Given the description of an element on the screen output the (x, y) to click on. 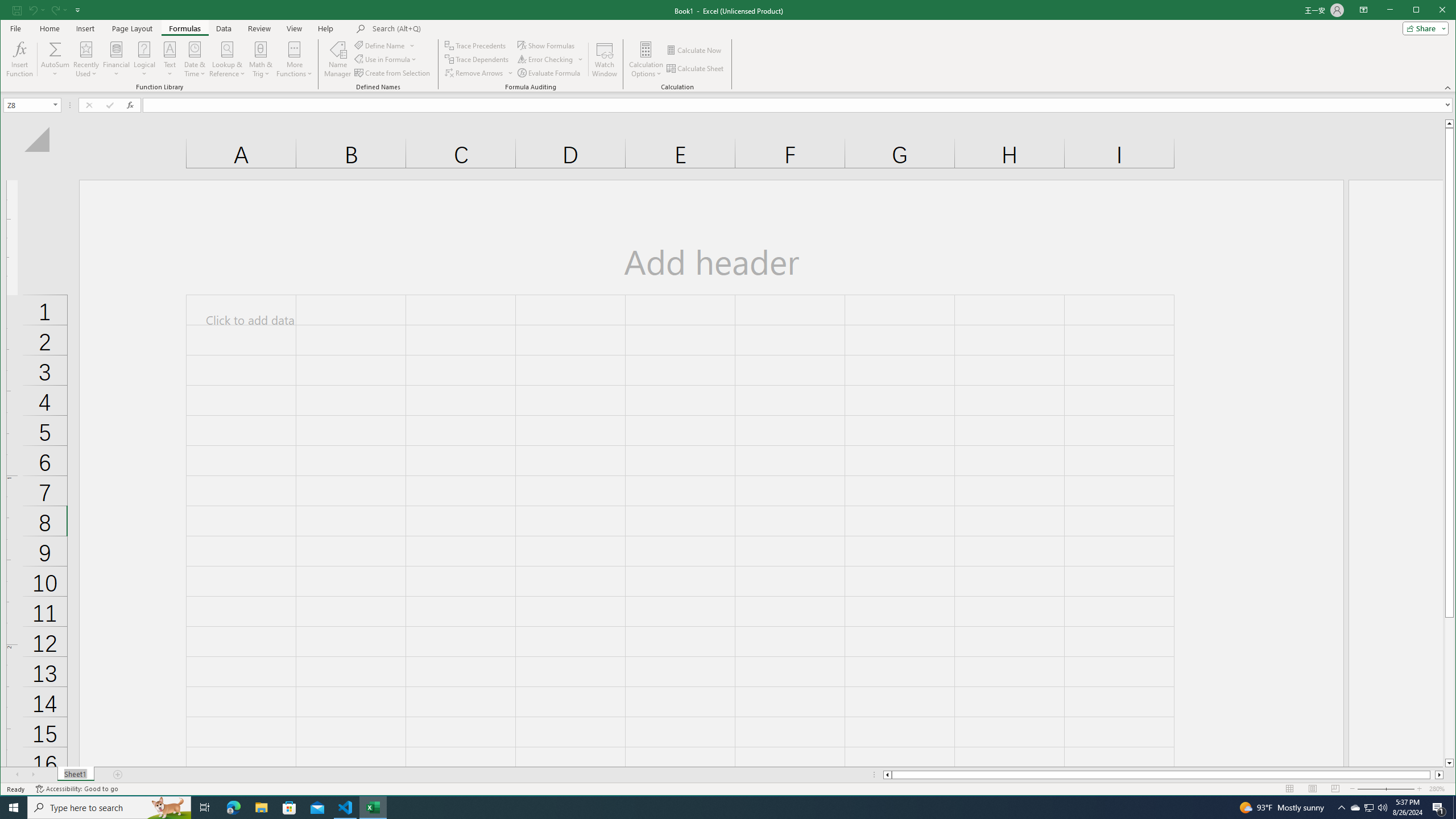
Task View (204, 807)
Remove Arrows (478, 72)
Calculate Now (695, 49)
